Given the description of an element on the screen output the (x, y) to click on. 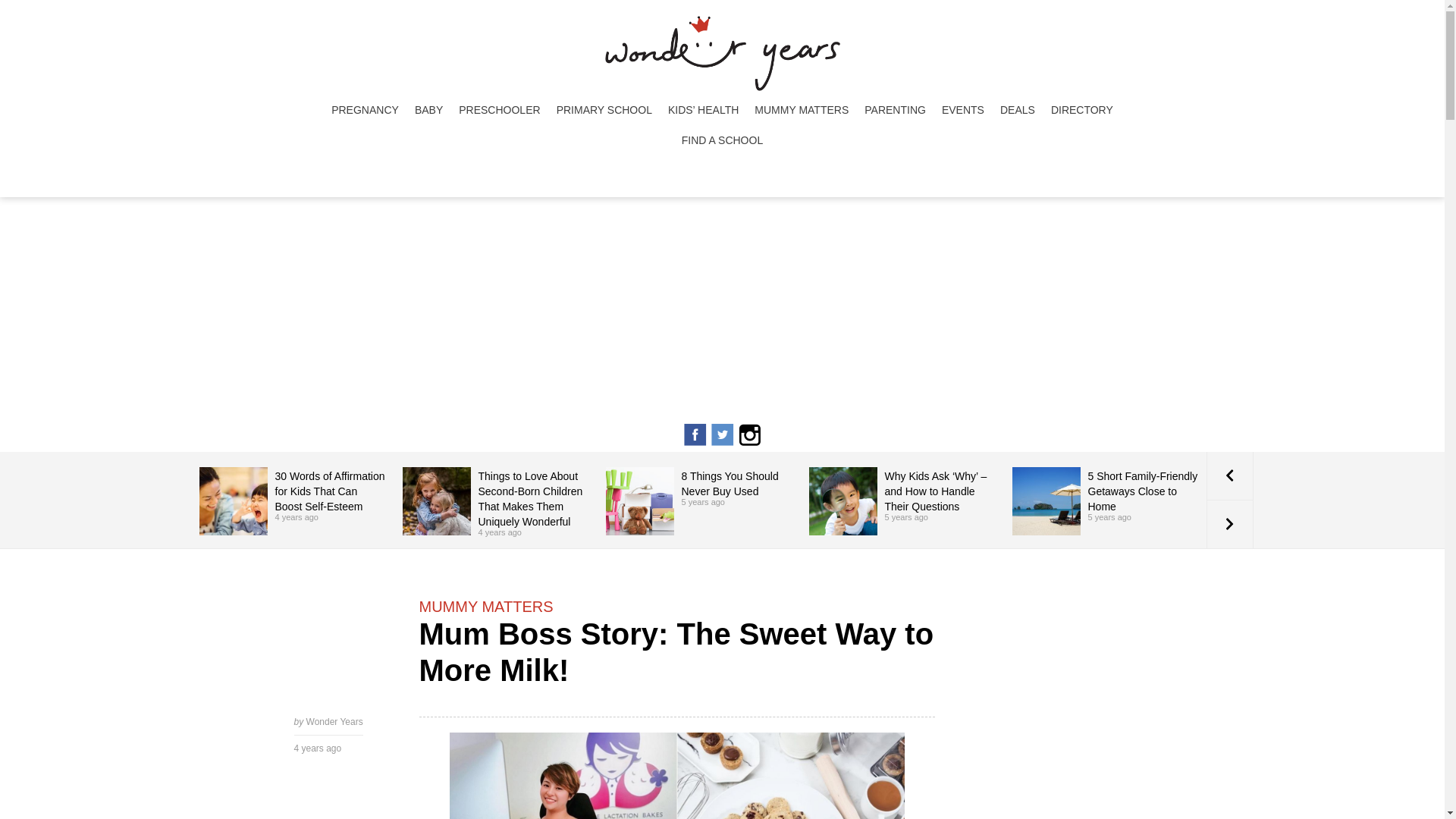
DIRECTORY (1082, 110)
PARENTING (895, 110)
Facebook (694, 443)
PREGNANCY (364, 110)
Facebook (694, 434)
MUMMY MATTERS (801, 110)
PRESCHOOLER (499, 110)
DEALS (1017, 110)
BABY (428, 110)
